Given the description of an element on the screen output the (x, y) to click on. 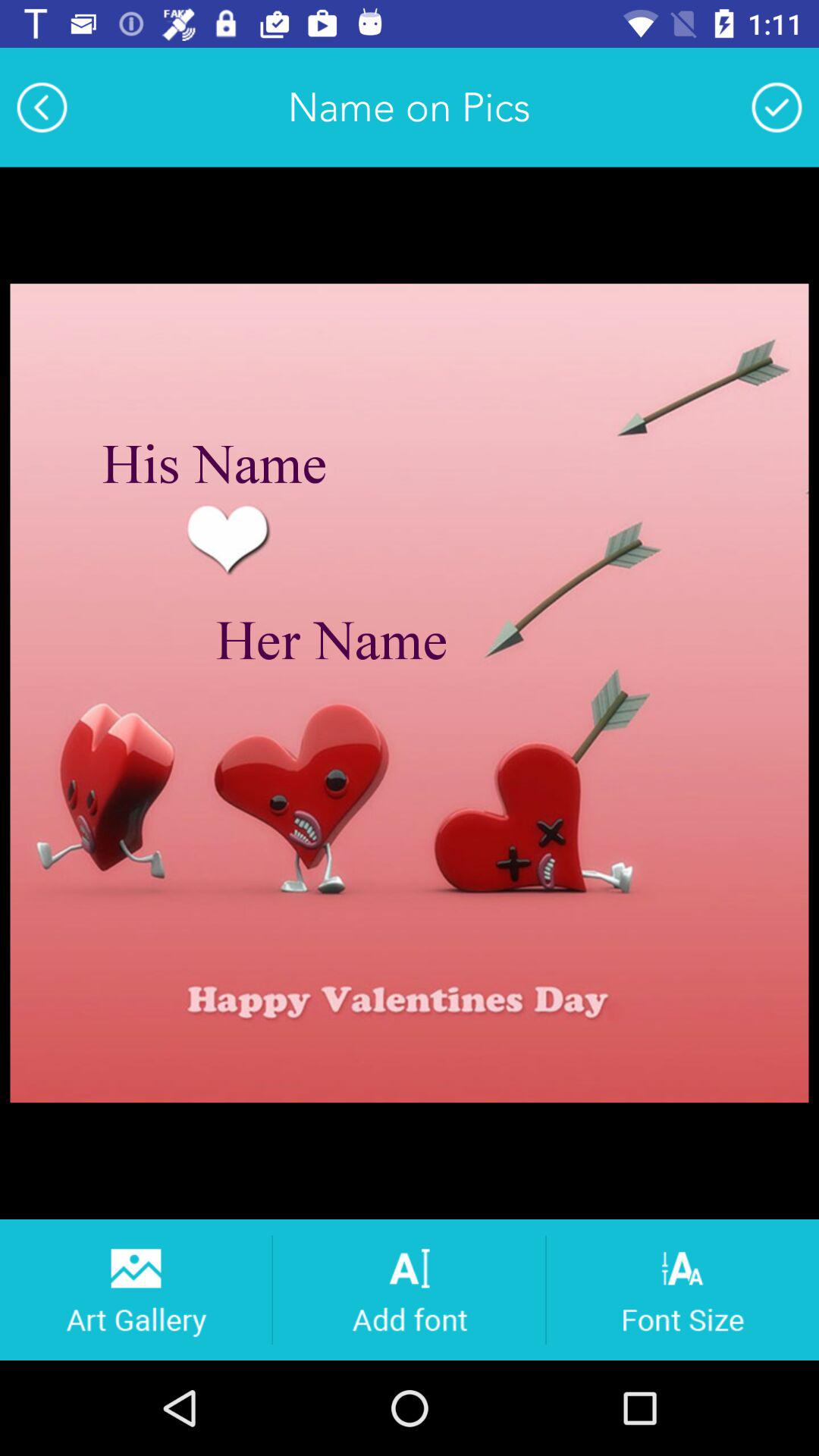
launch the item next to the name on pics app (41, 107)
